Given the description of an element on the screen output the (x, y) to click on. 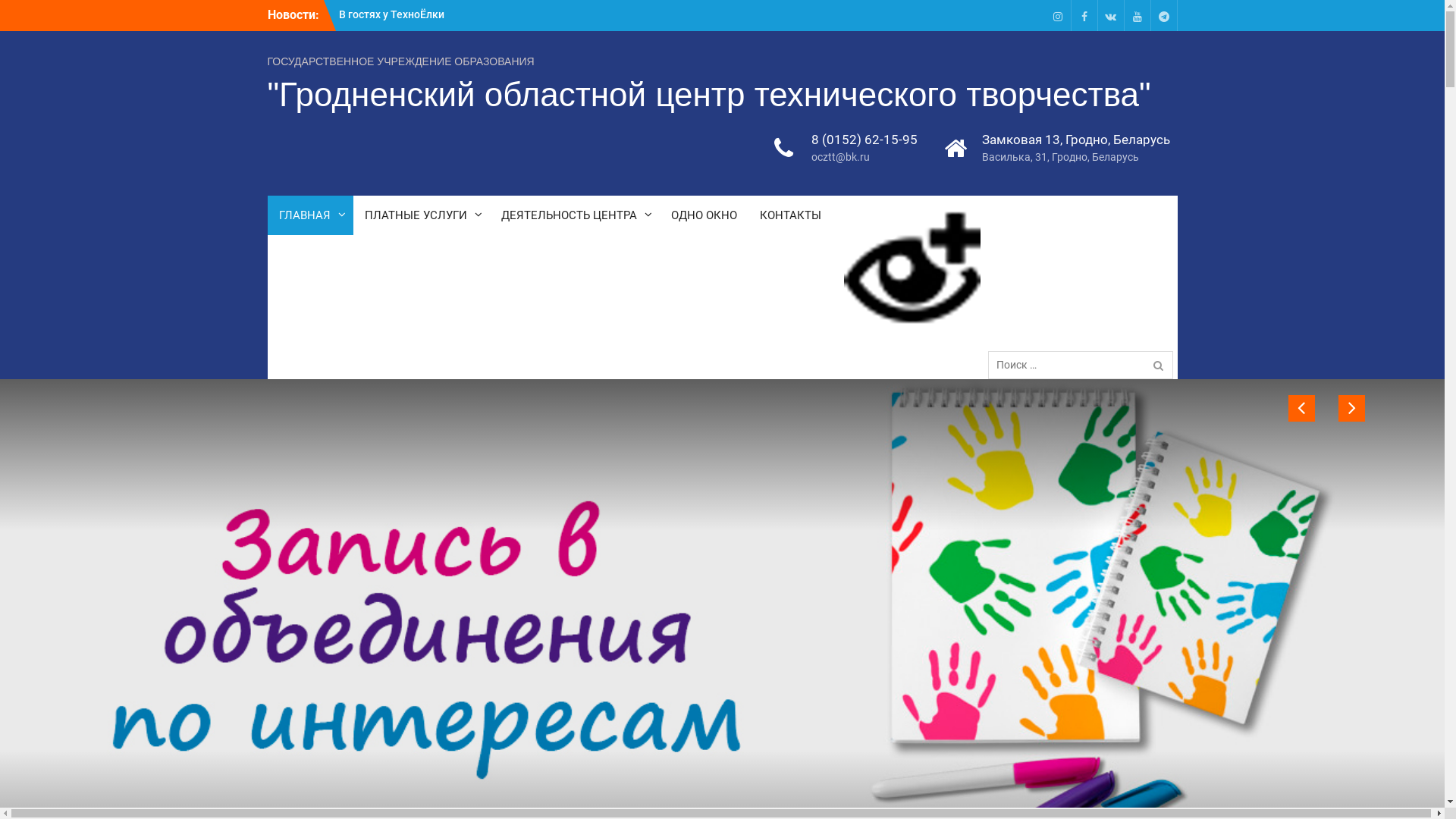
Youtube Element type: text (1137, 15)
ocztt@bk.ru Element type: text (863, 157)
Facebook Element type: text (1084, 15)
Instagram Element type: text (1056, 15)
8 (0152) 62-15-95 Element type: text (863, 140)
Telegram Element type: text (1162, 15)
